Given the description of an element on the screen output the (x, y) to click on. 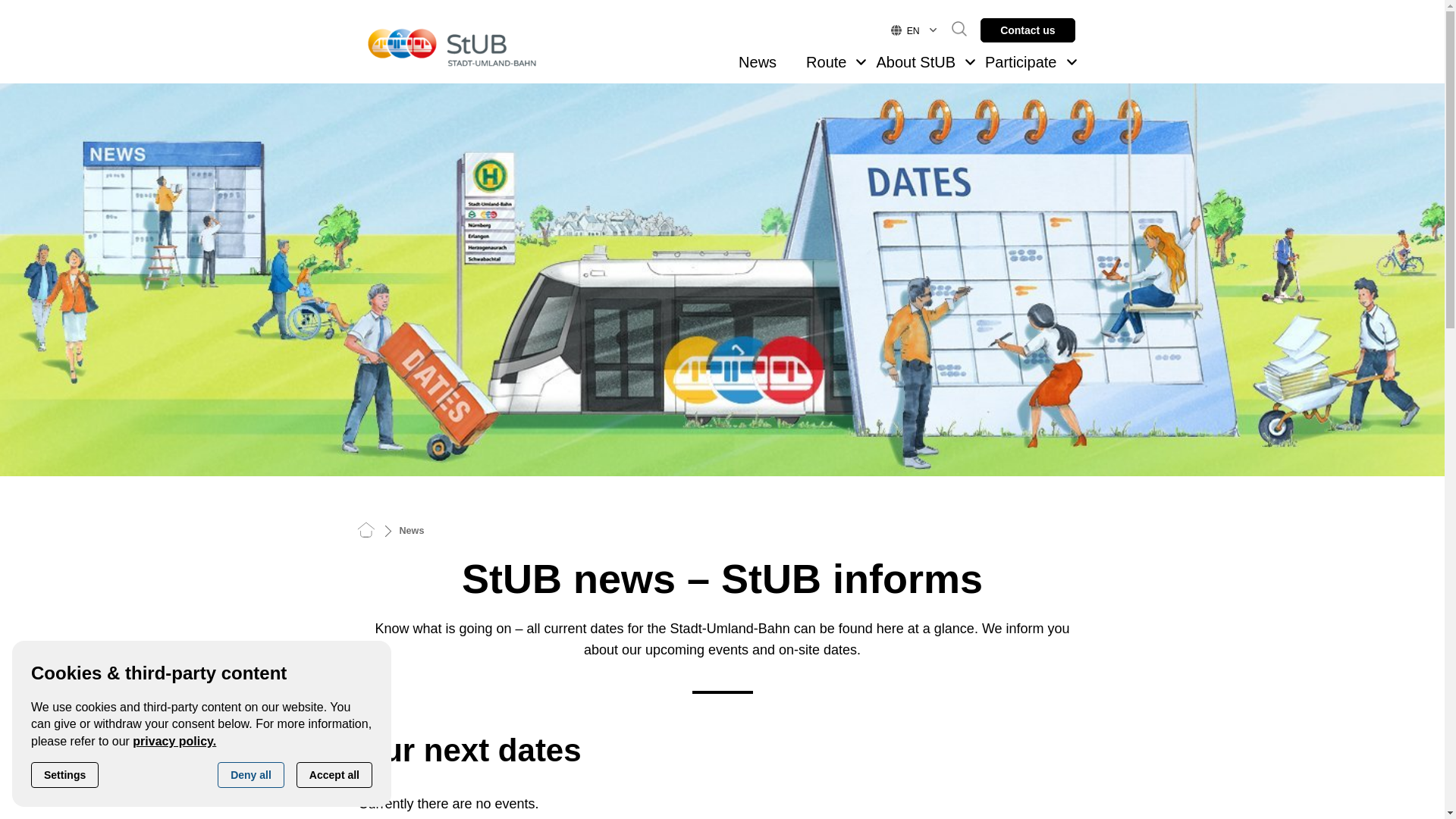
News (757, 62)
Participate (1020, 62)
Search (950, 28)
About StUB (914, 62)
Contact us (1027, 29)
Route (826, 62)
